Given the description of an element on the screen output the (x, y) to click on. 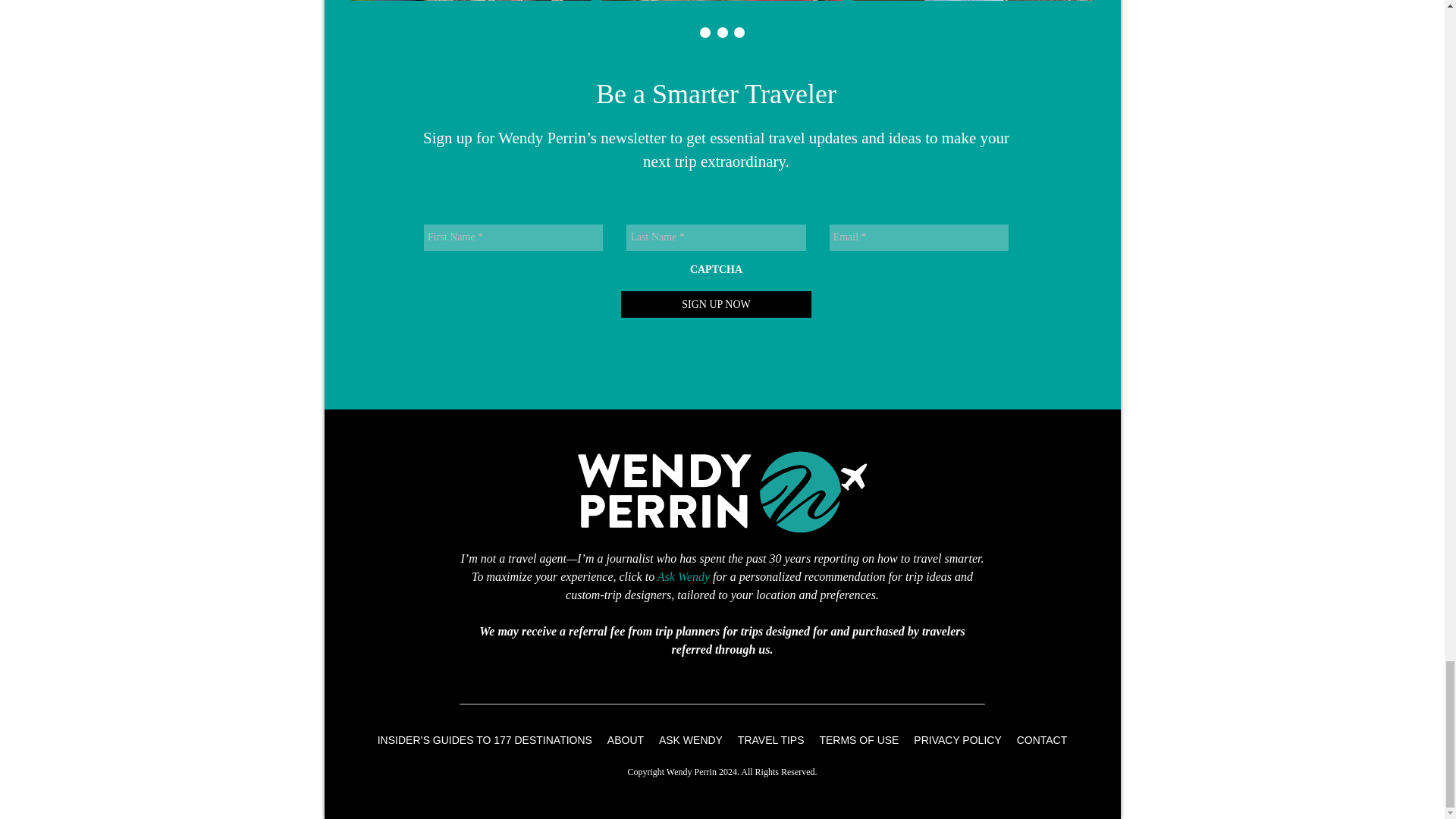
Sign Up Now (715, 304)
